Given the description of an element on the screen output the (x, y) to click on. 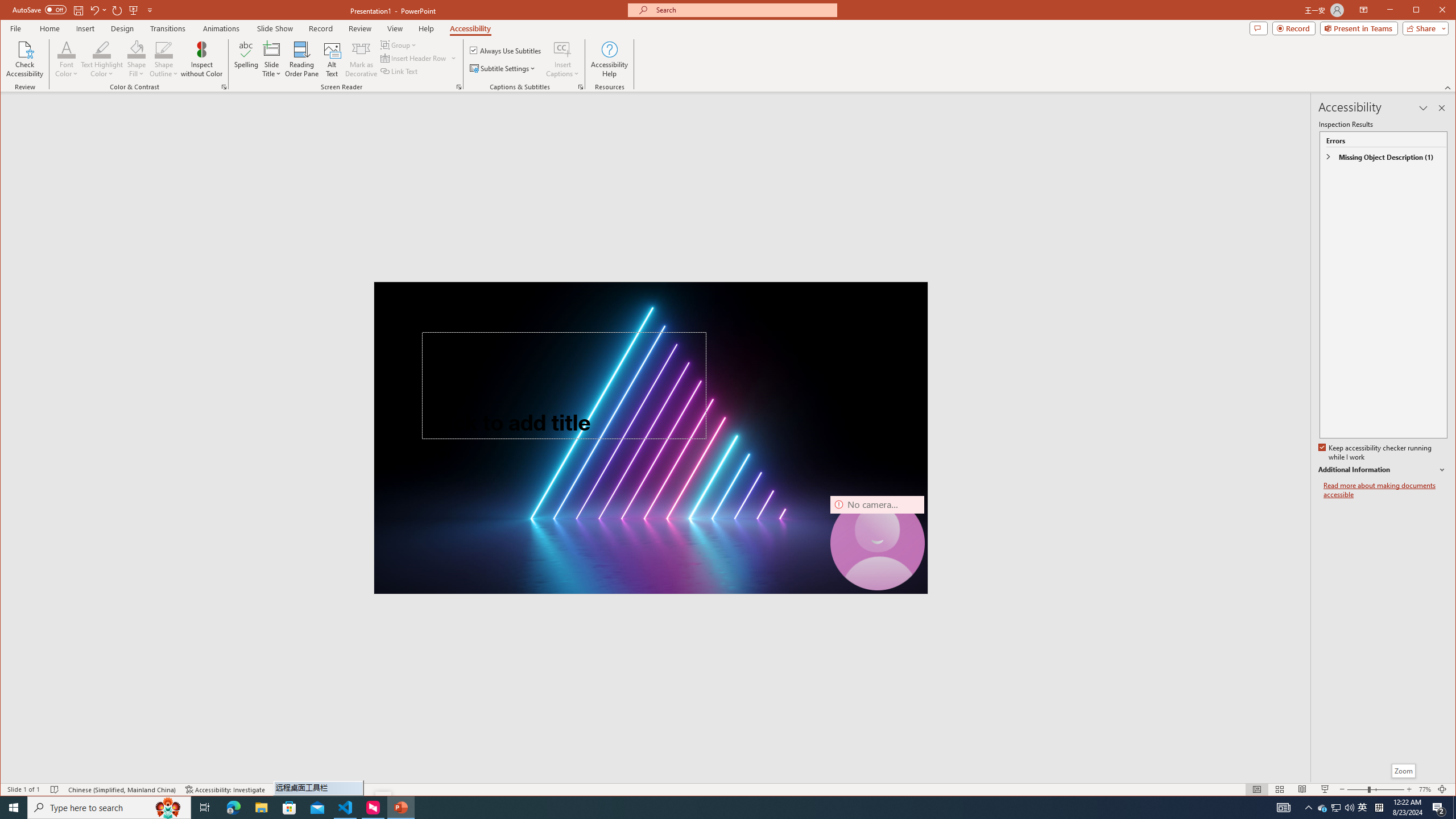
Reading Order Pane (301, 59)
Inspect without Color (201, 59)
Subtitle Settings (502, 68)
Accessibility Help (608, 59)
